Given the description of an element on the screen output the (x, y) to click on. 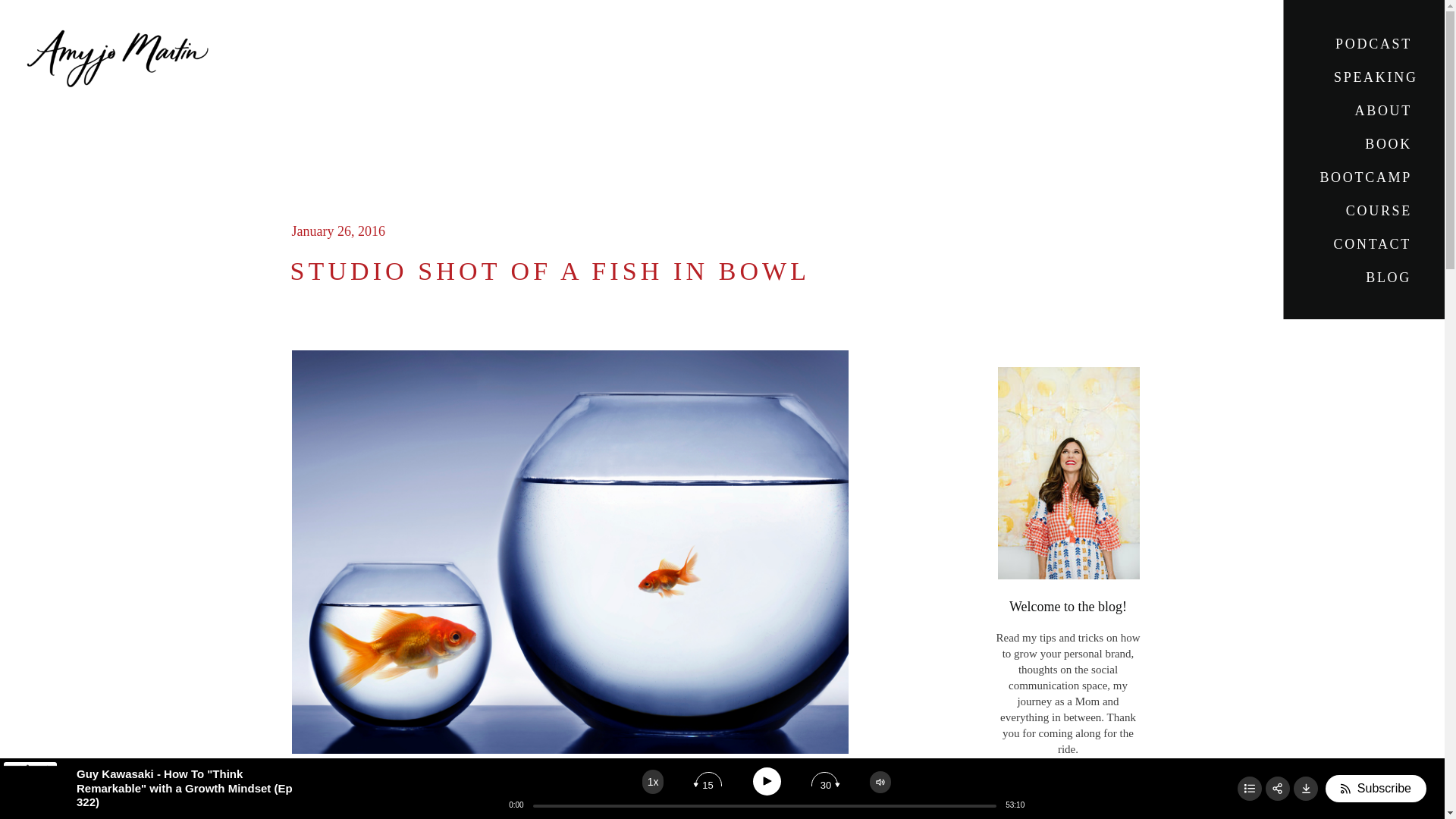
SPEAKING (1372, 81)
COURSE (1350, 215)
CONTACT (1371, 248)
PODCAST (1372, 48)
BLOG (1371, 275)
BOOK (1372, 148)
ABOUT (1372, 114)
BOOTCAMP (1363, 182)
